Given the description of an element on the screen output the (x, y) to click on. 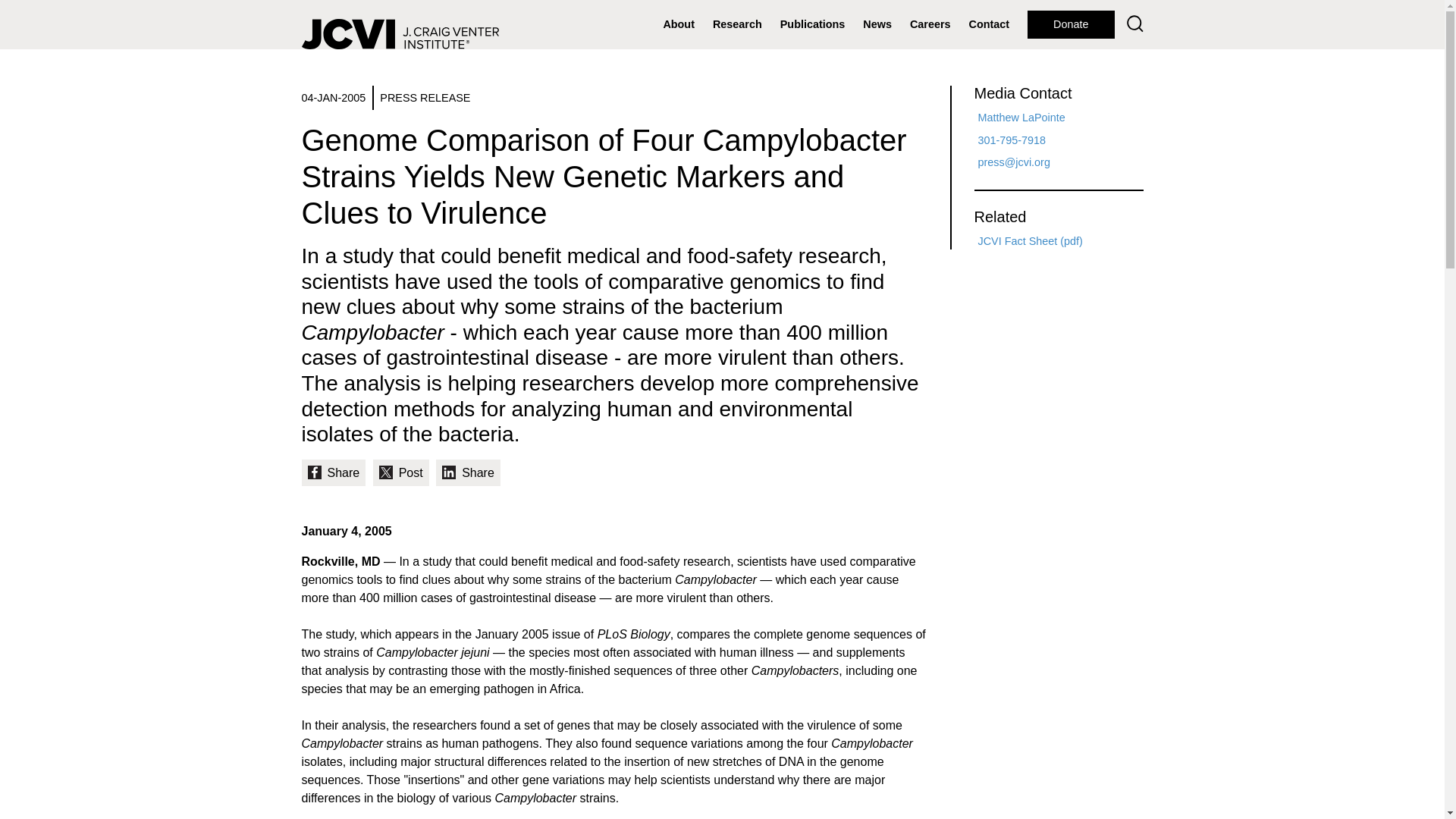
Careers (930, 24)
About (678, 24)
Research (737, 24)
Matthew LaPointe (1021, 117)
301-795-7918 (1012, 140)
Publications (812, 24)
News (877, 24)
Contact (989, 24)
Donate (1070, 24)
